Given the description of an element on the screen output the (x, y) to click on. 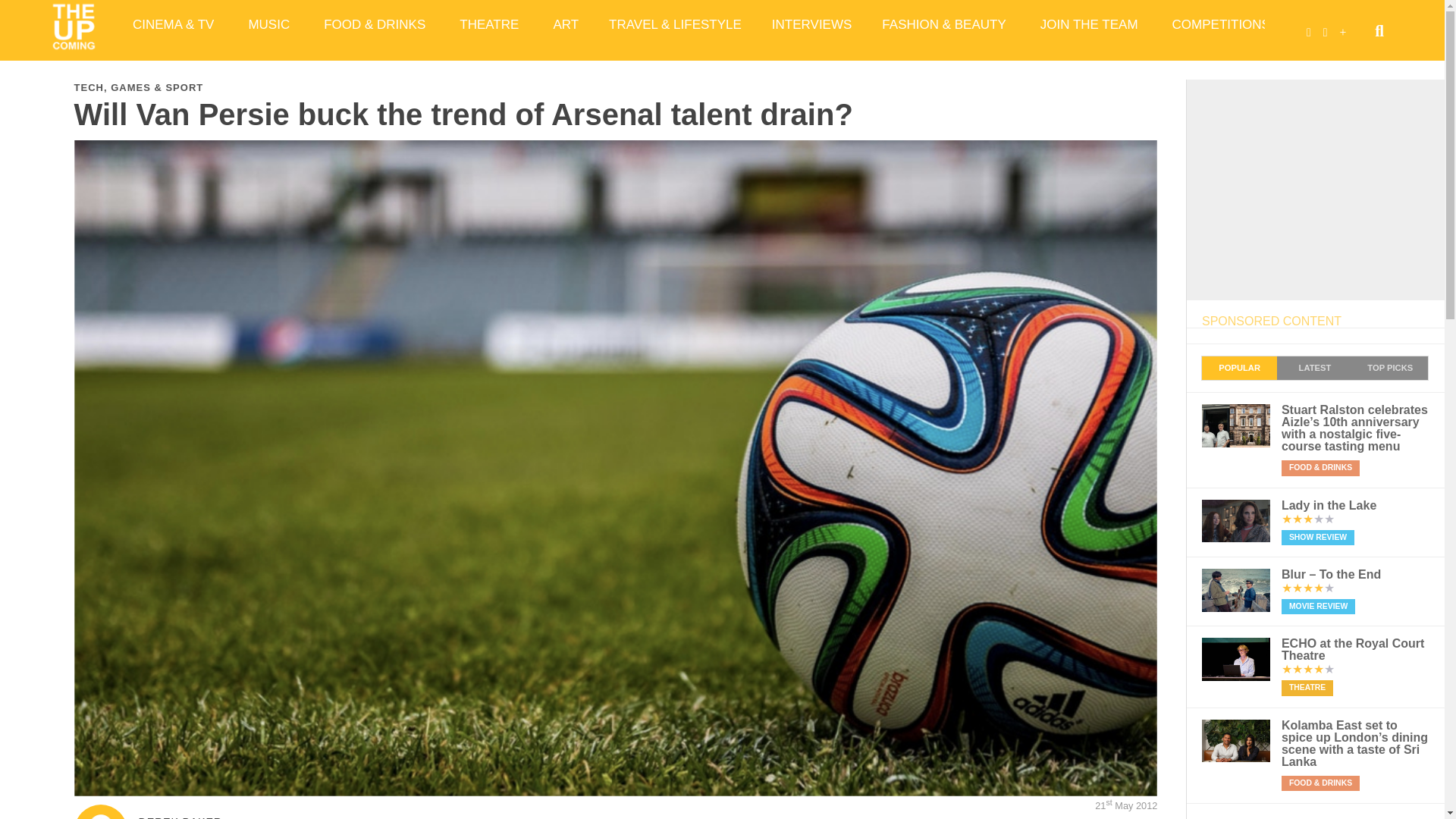
MUSIC (270, 24)
ART (565, 24)
INTERVIEWS (811, 24)
THEATRE (490, 24)
JOIN THE TEAM (1091, 24)
